Given the description of an element on the screen output the (x, y) to click on. 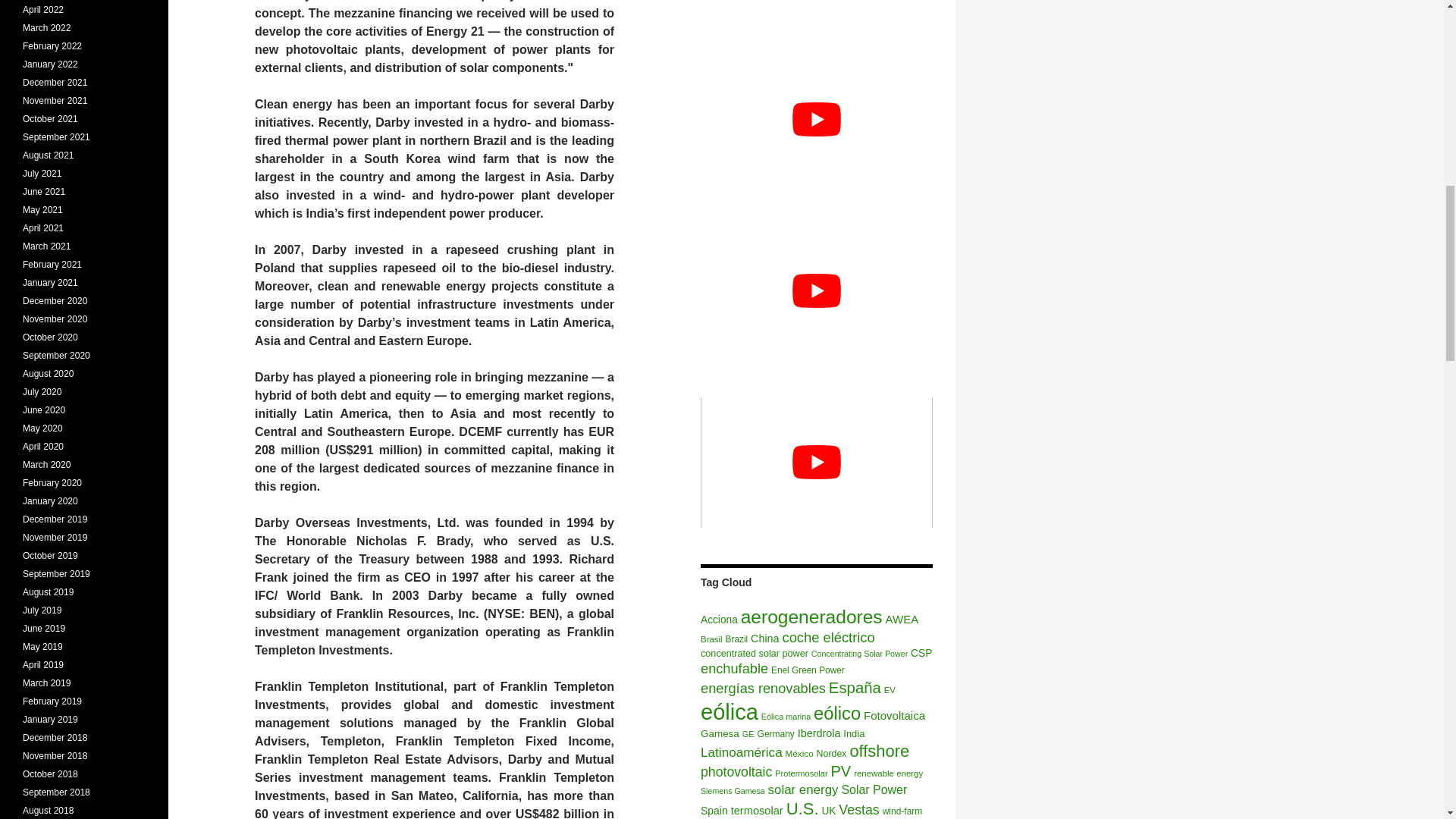
aerogeneradores (811, 616)
Acciona (719, 619)
AWEA (901, 618)
